Given the description of an element on the screen output the (x, y) to click on. 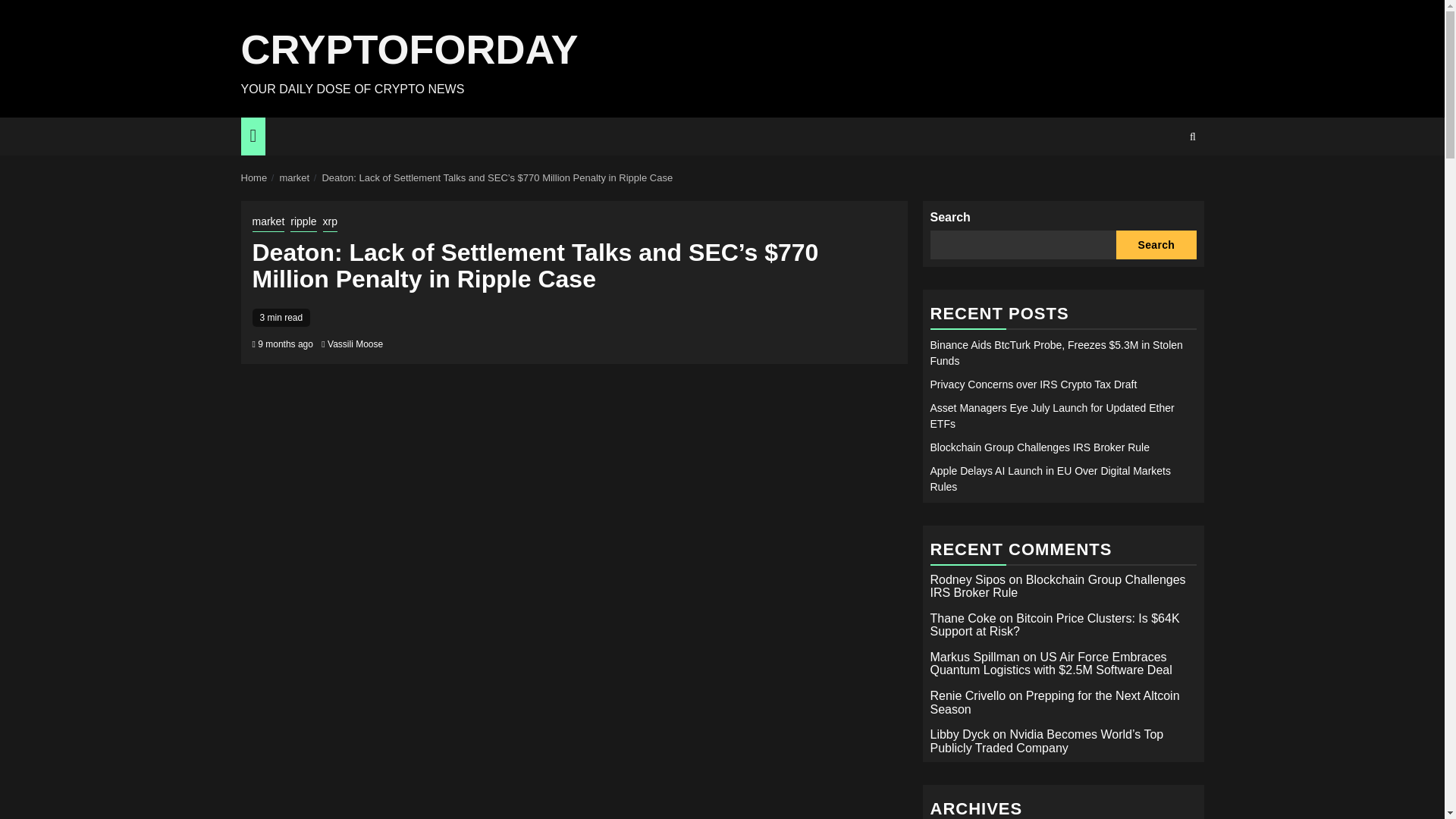
Home (254, 177)
market (293, 177)
CRYPTOFORDAY (409, 49)
xrp (330, 222)
ripple (302, 222)
Vassili Moose (354, 344)
Search (1192, 136)
Search (1163, 182)
market (267, 222)
